Given the description of an element on the screen output the (x, y) to click on. 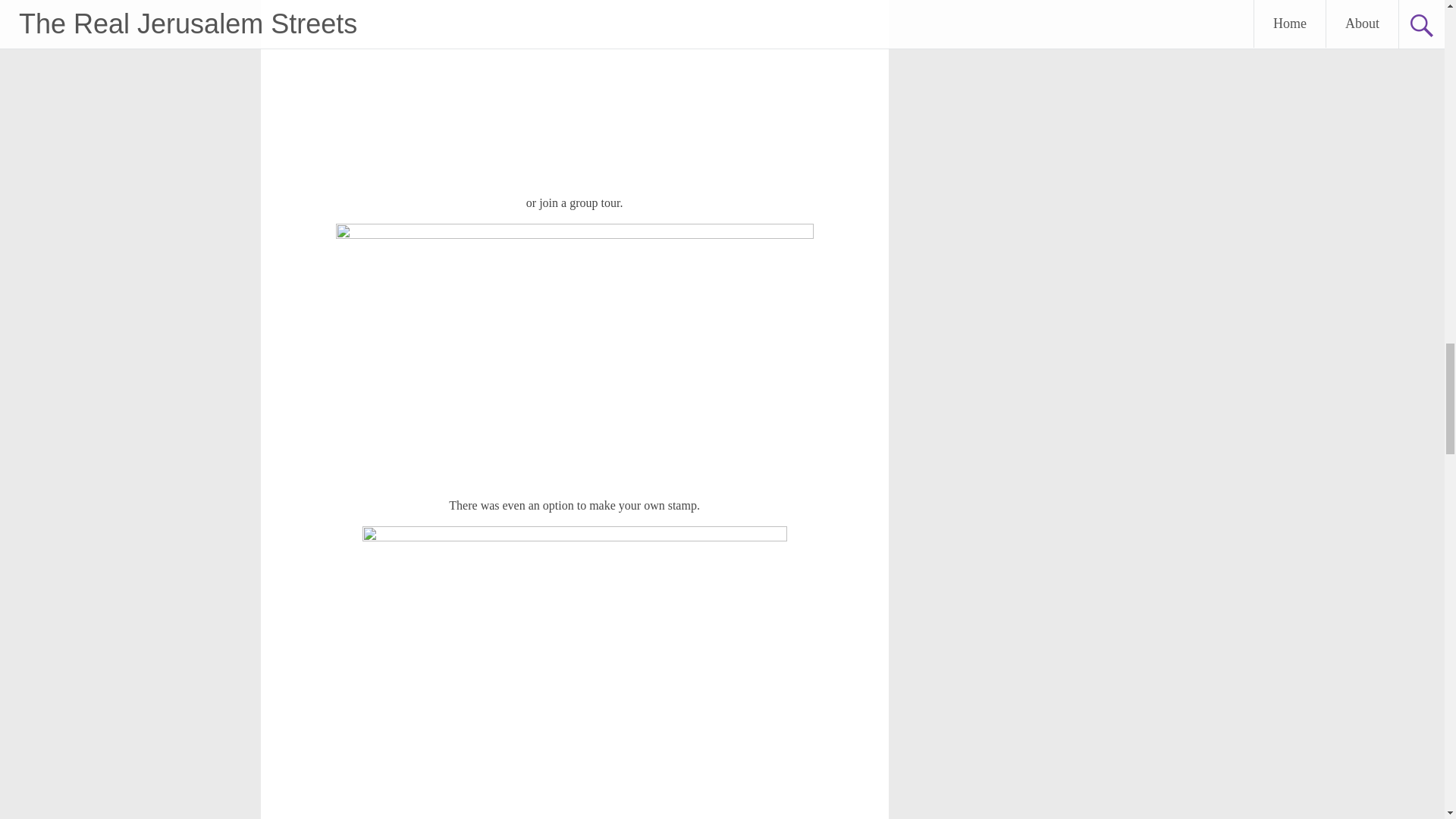
DSC03425 (574, 354)
DSC03422 (574, 91)
DSC03426 (574, 672)
